Given the description of an element on the screen output the (x, y) to click on. 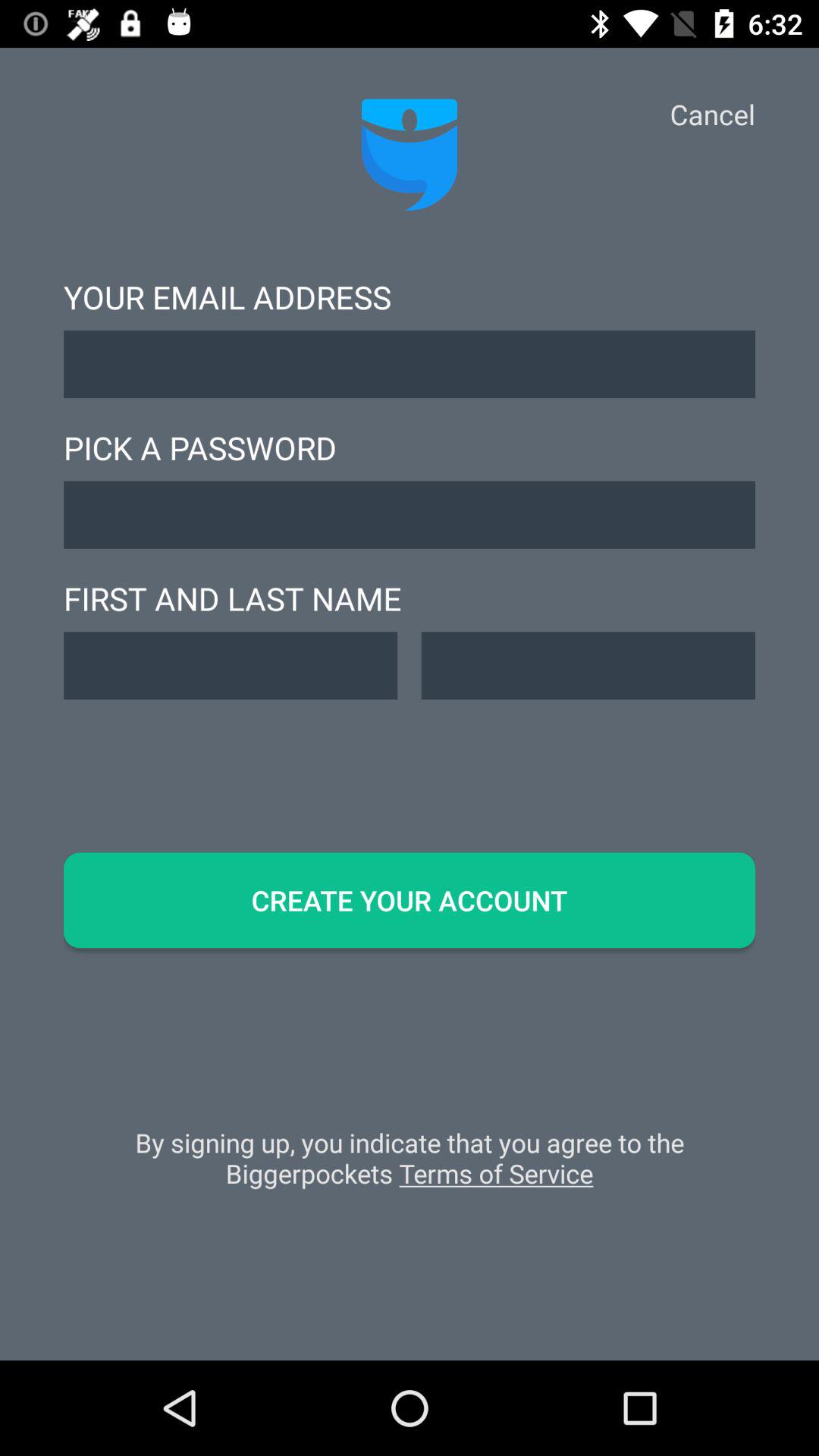
turn on icon at the top right corner (712, 114)
